Given the description of an element on the screen output the (x, y) to click on. 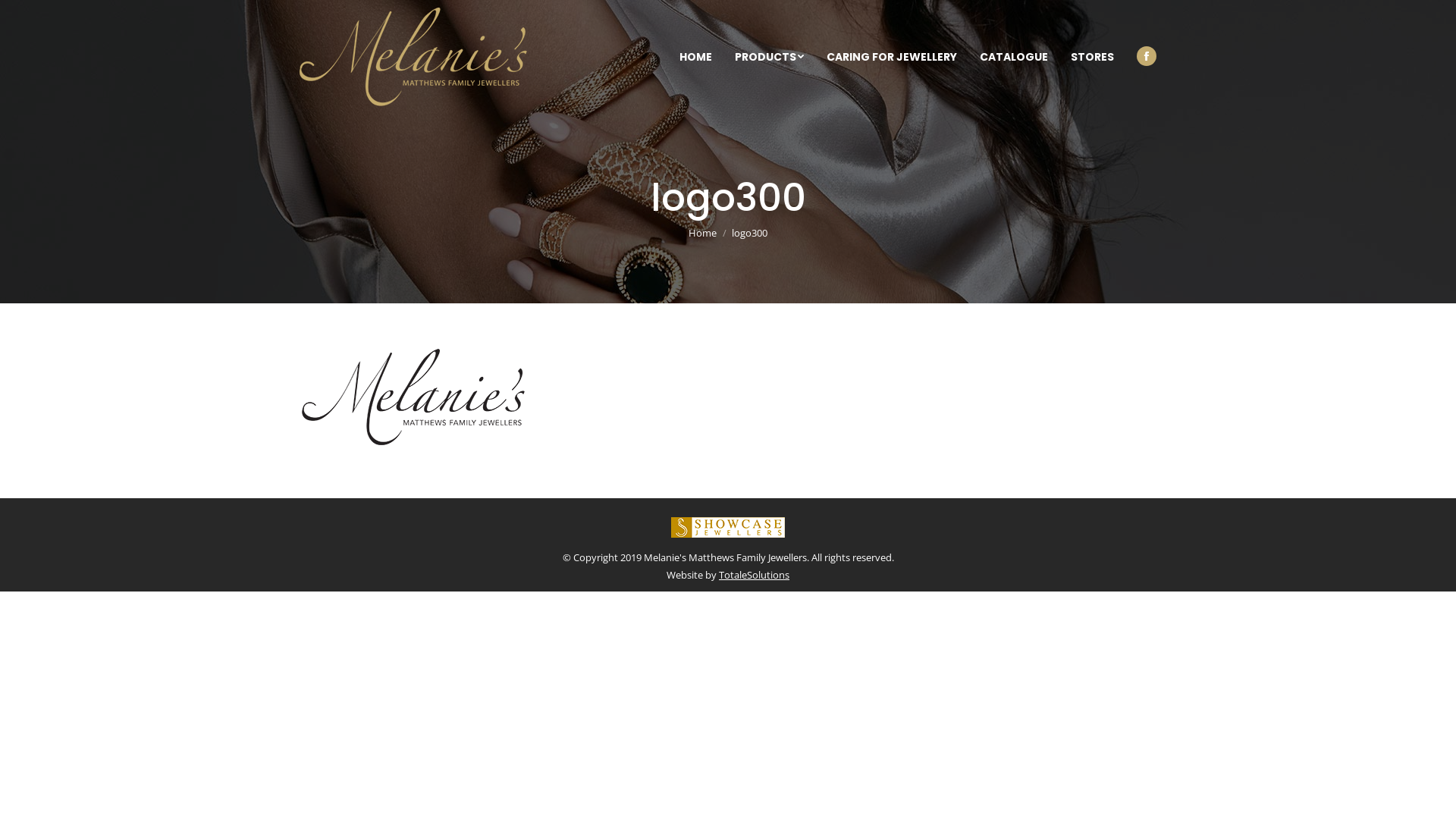
CARING FOR JEWELLERY Element type: text (891, 56)
TotaleSolutions Element type: text (753, 574)
HOME Element type: text (695, 56)
CATALOGUE Element type: text (1013, 56)
PRODUCTS Element type: text (768, 56)
Home Element type: text (702, 232)
STORES Element type: text (1091, 56)
Facebook page opens in new window Element type: text (1146, 55)
